Given the description of an element on the screen output the (x, y) to click on. 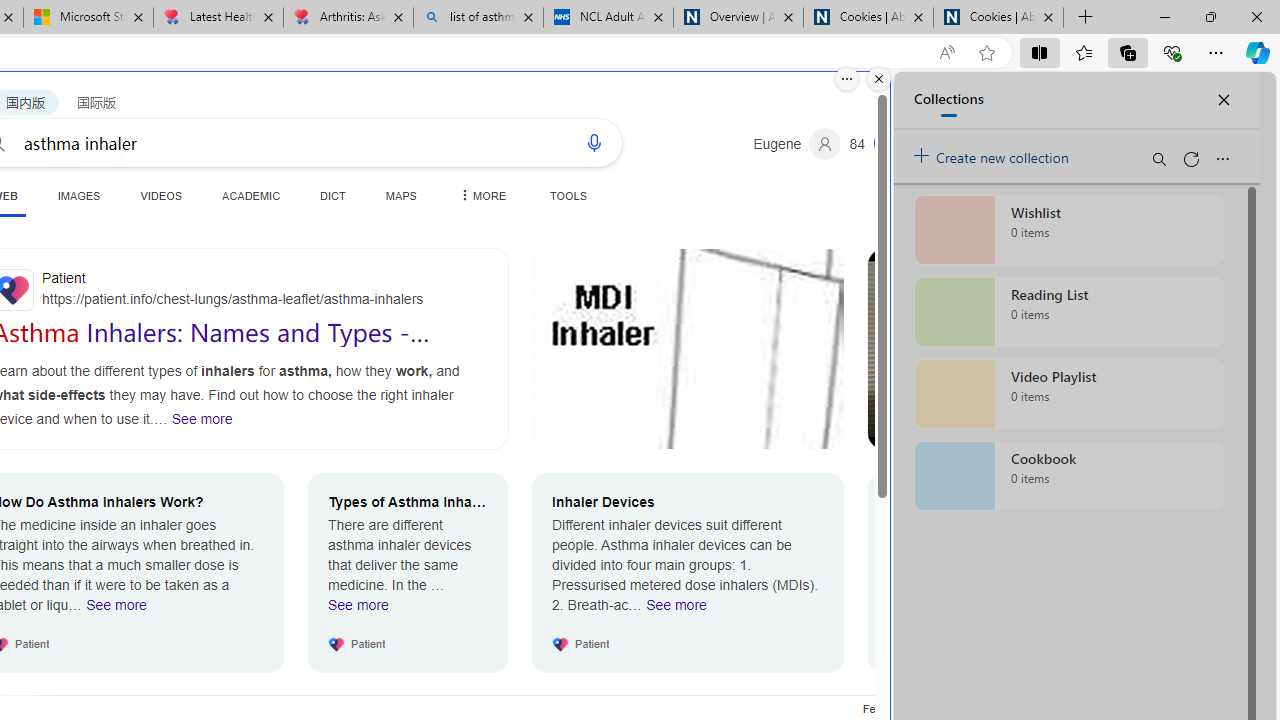
Dropdown Menu (481, 195)
AutomationID: rh_meter (888, 142)
AutomationID: serp_medal_svg (888, 142)
Video source site (885, 431)
MORE (481, 195)
How to correctly use an asthma inhaler (1023, 349)
Search using voice (593, 142)
ACADEMIC (251, 195)
Cookies | About | NICE (998, 17)
